Given the description of an element on the screen output the (x, y) to click on. 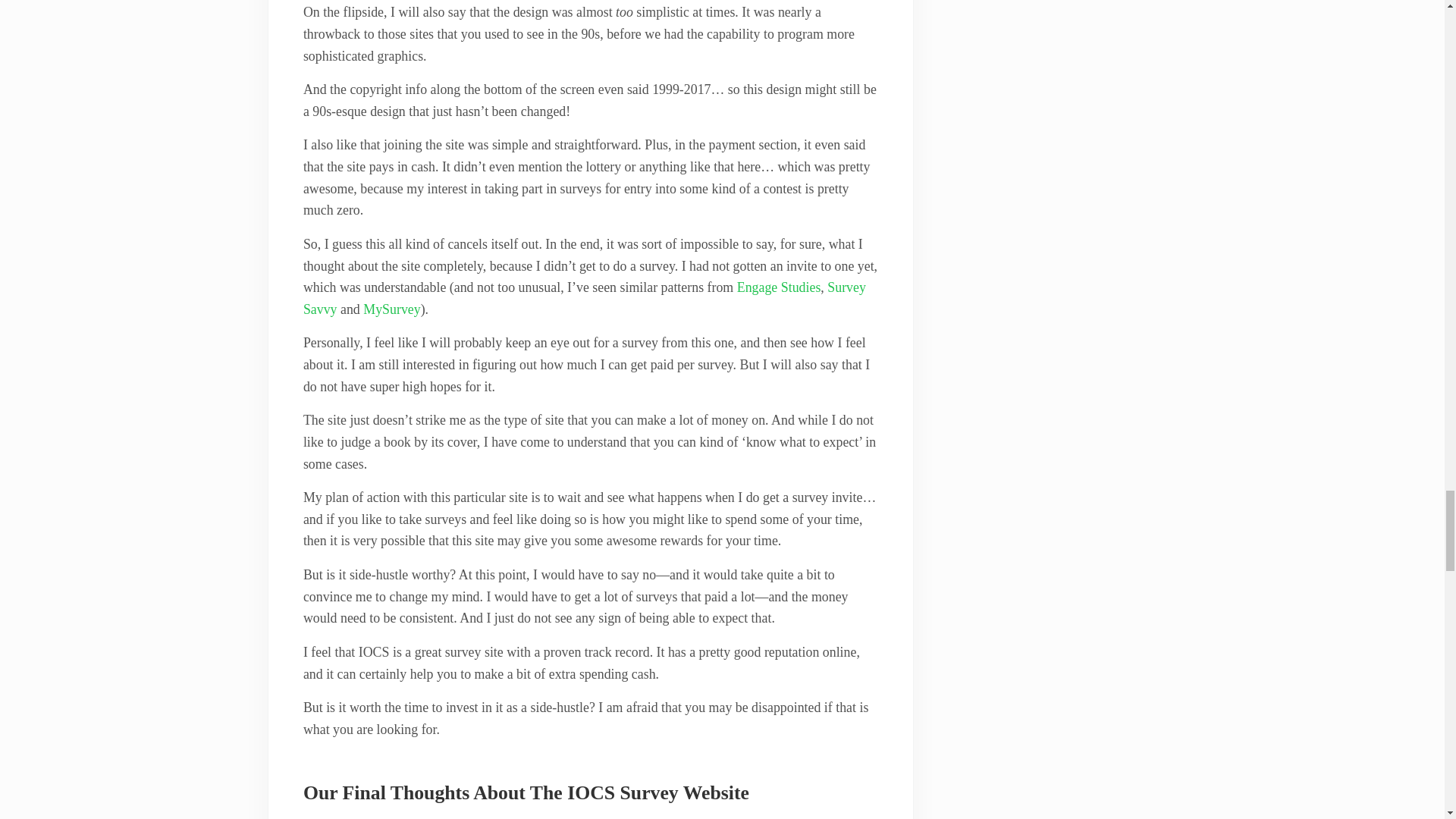
Survey Savvy (584, 298)
Engage Studies (778, 287)
MySurvey (391, 309)
